Given the description of an element on the screen output the (x, y) to click on. 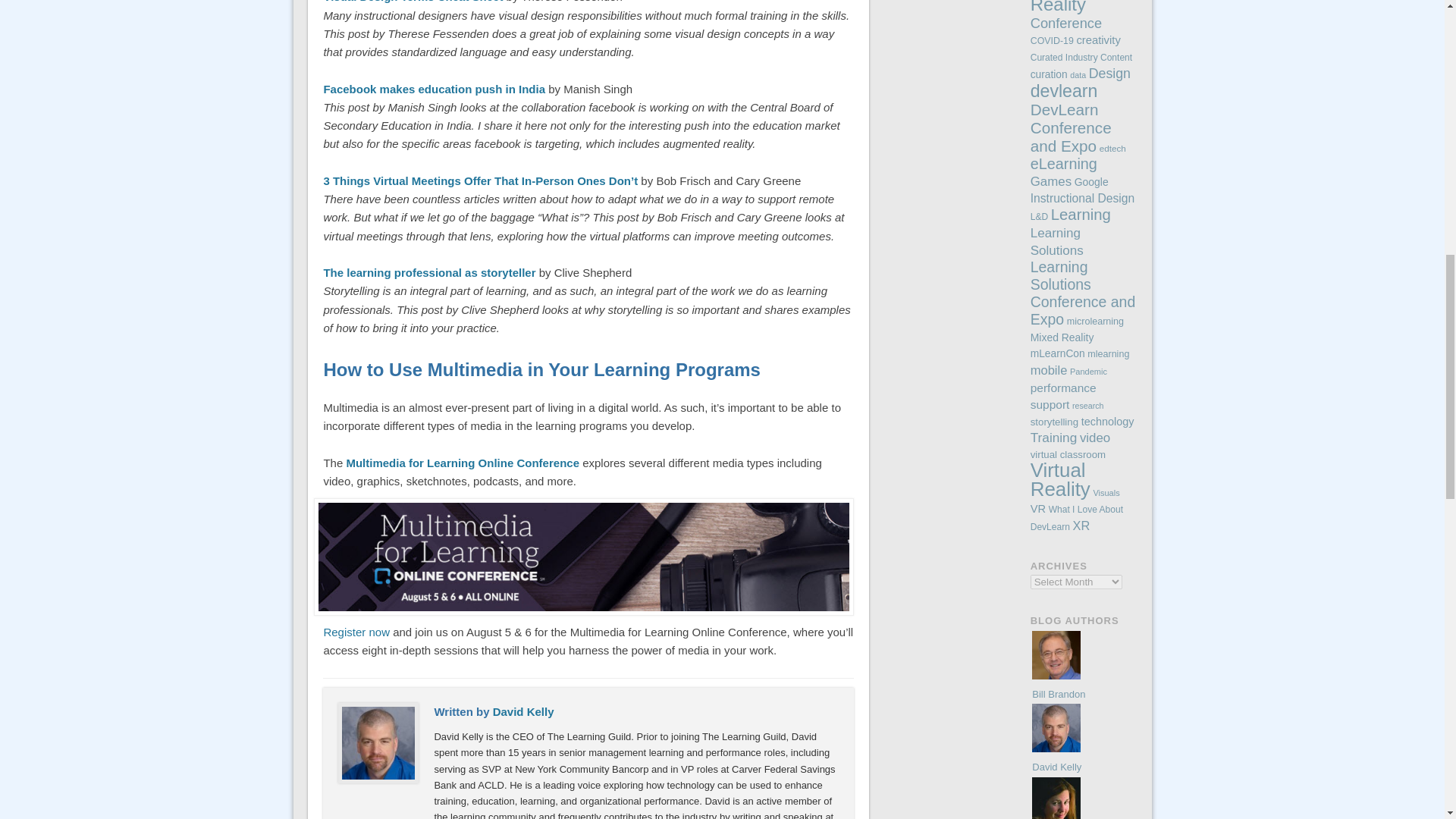
Posts by David Kelly (523, 711)
Visual Design Terms Cheat Sheet (412, 1)
Facebook makes education push in India (433, 88)
Multimedia for Learning Online Conference (462, 462)
Register now (356, 631)
David Kelly (523, 711)
The learning professional as storyteller (429, 272)
